Given the description of an element on the screen output the (x, y) to click on. 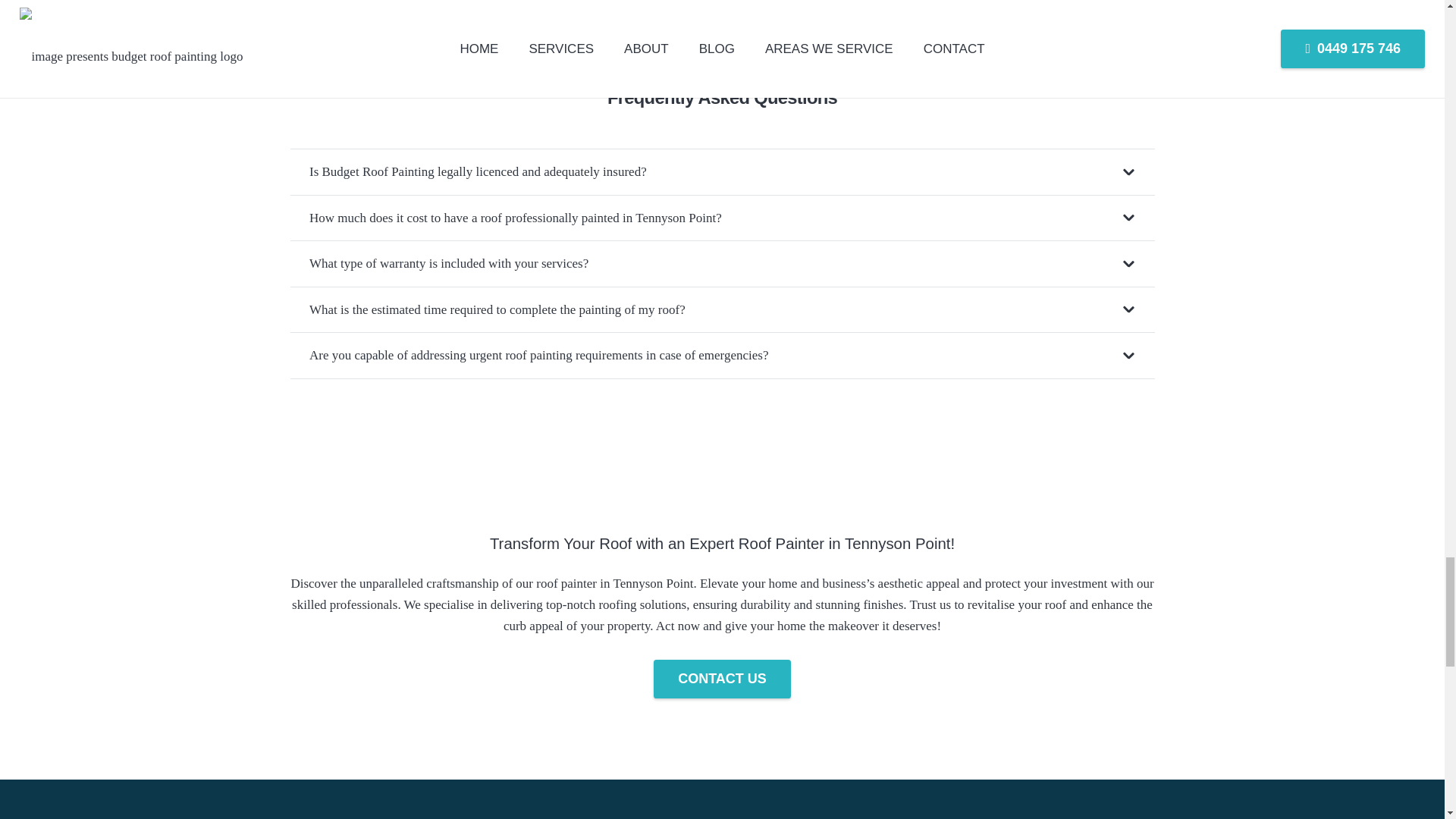
CONTACT US (721, 678)
What type of warranty is included with your services? (721, 263)
